Given the description of an element on the screen output the (x, y) to click on. 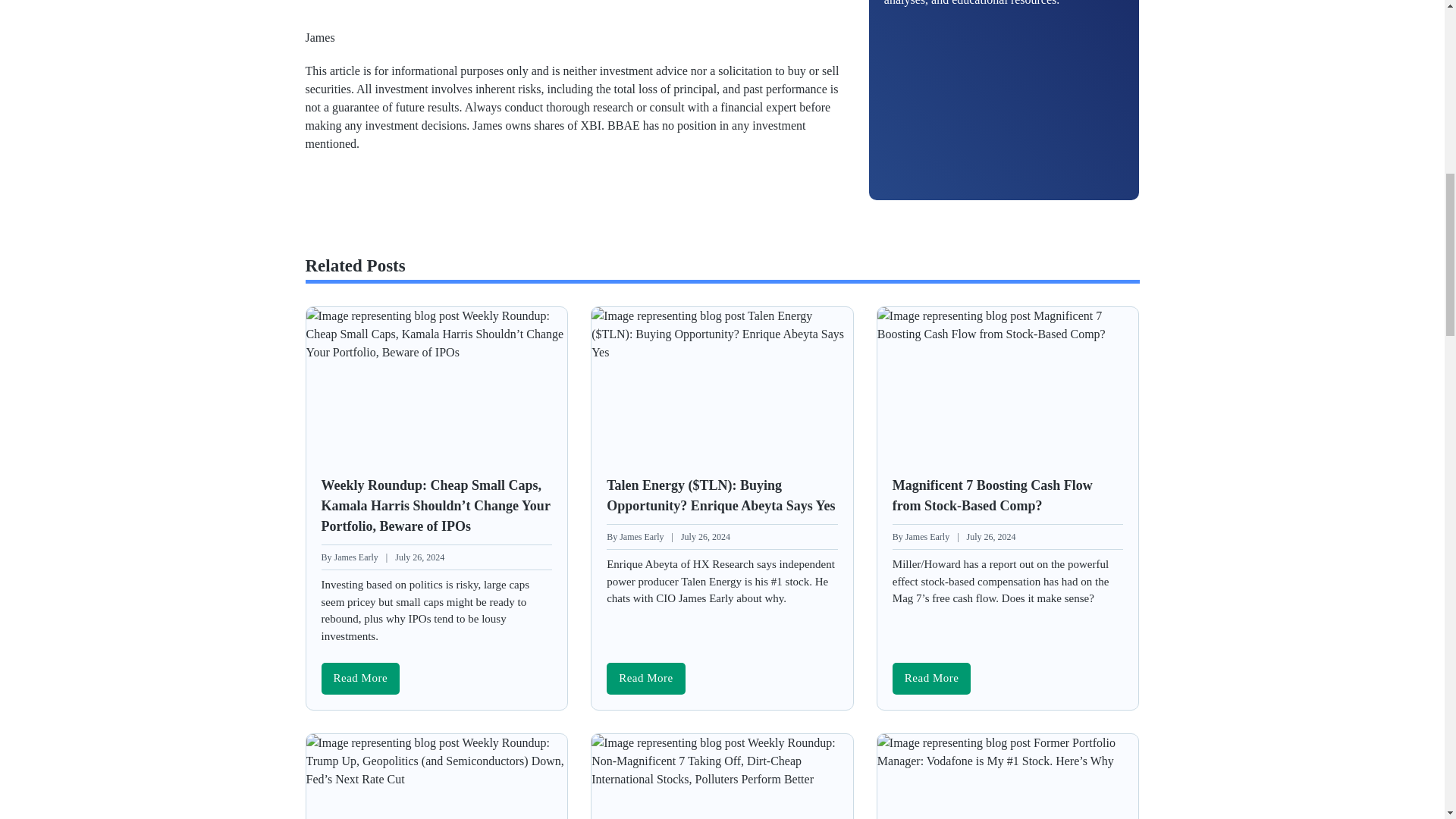
Magnificent 7 Boosting Cash Flow from Stock-Based Comp? (1007, 323)
Magnificent 7 Boosting Cash Flow from Stock-Based Comp? (931, 678)
